Given the description of an element on the screen output the (x, y) to click on. 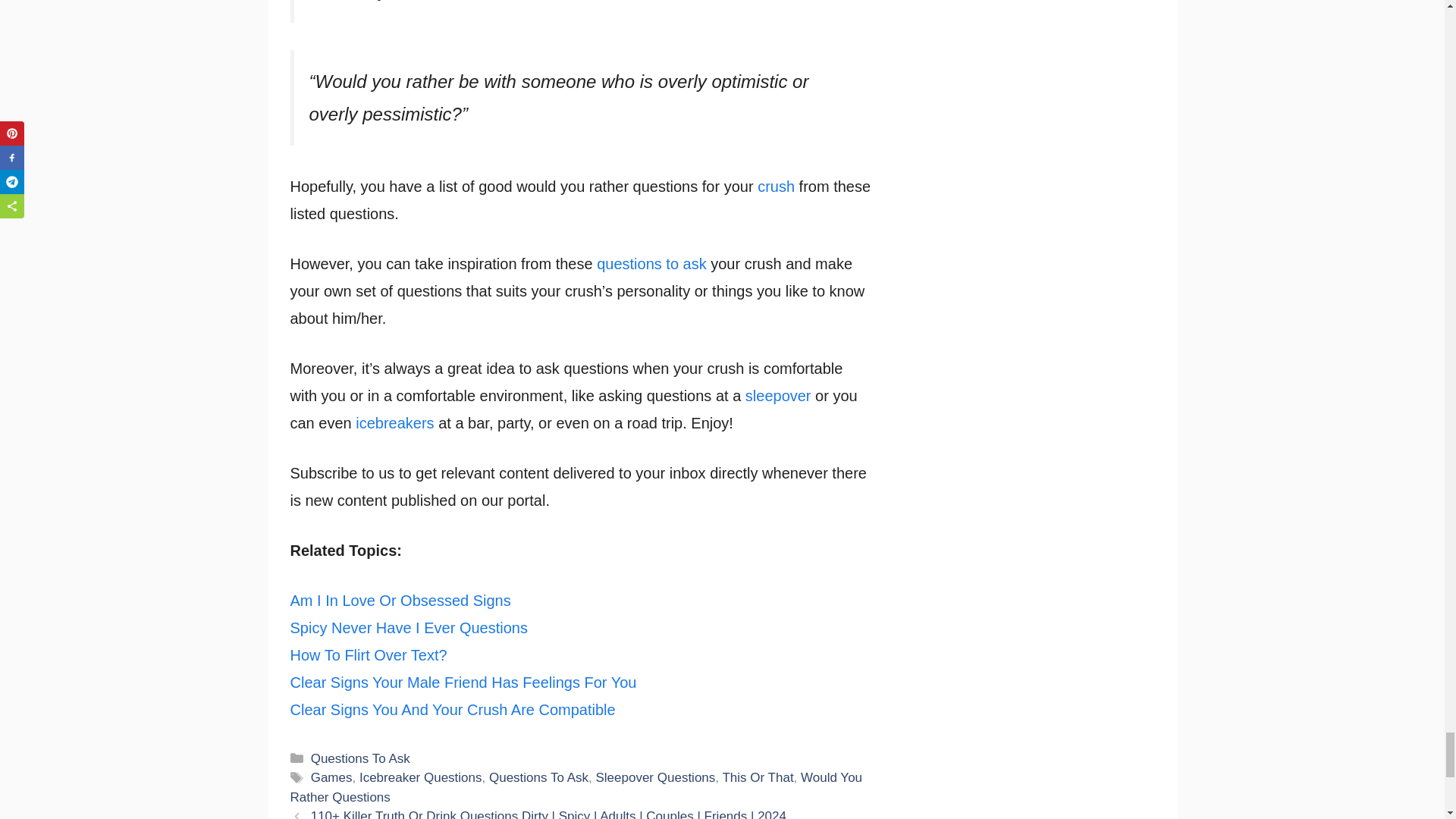
sleepover (777, 395)
icebreakers (394, 422)
Am I In Love Or Obsessed Signs (400, 600)
questions to ask (653, 263)
crush (775, 186)
Spicy Never Have I Ever Questions (408, 627)
